Given the description of an element on the screen output the (x, y) to click on. 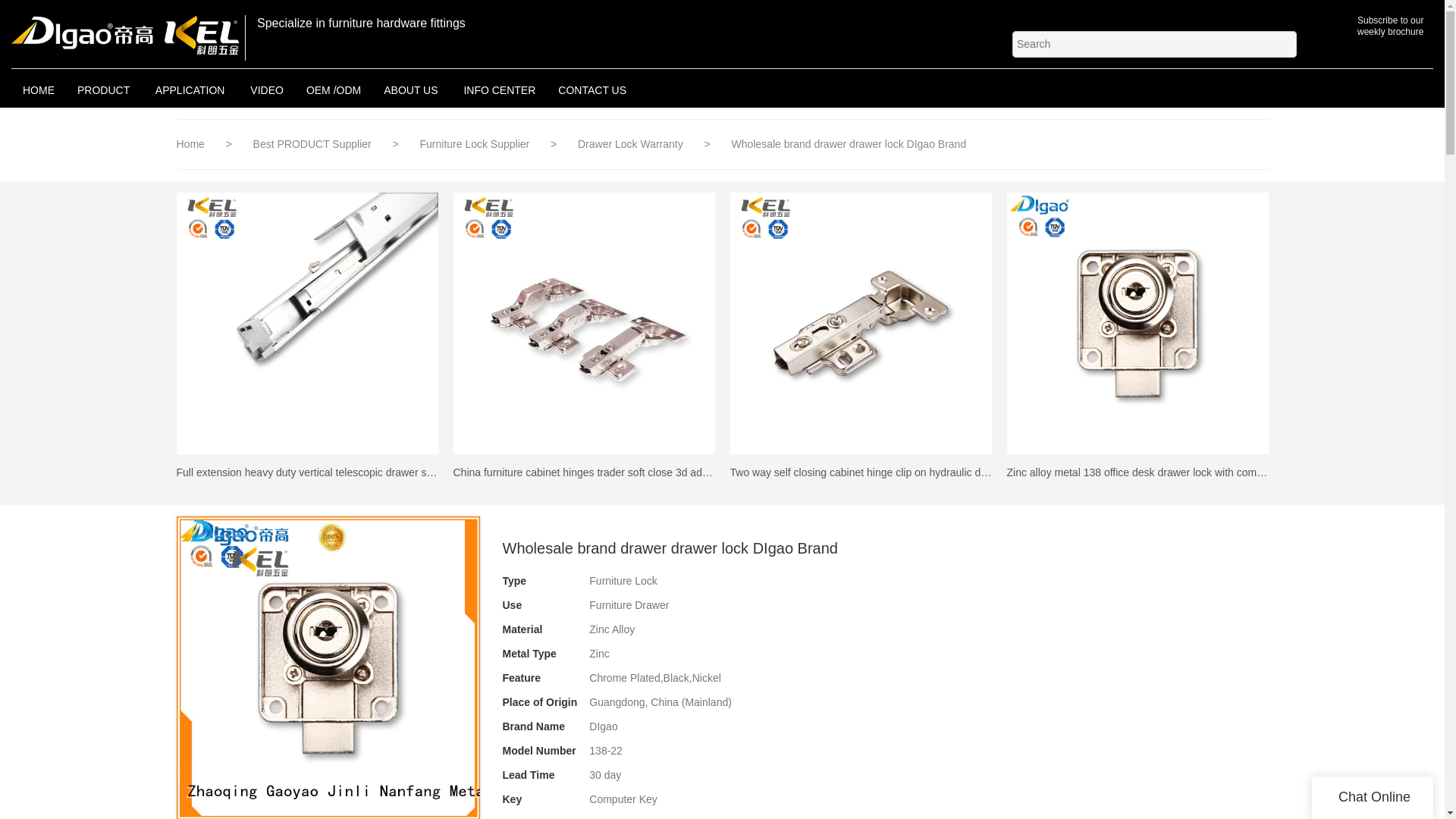
APPLICATION (191, 89)
Home (189, 143)
PRODUCT (104, 89)
INFO CENTER (499, 89)
Drawer Lock Warranty (631, 143)
Furniture Lock Supplier (475, 143)
CONTACT US (592, 89)
ABOUT US (411, 89)
HOME (38, 89)
VIDEO (266, 89)
Best PRODUCT Supplier (313, 143)
